Given the description of an element on the screen output the (x, y) to click on. 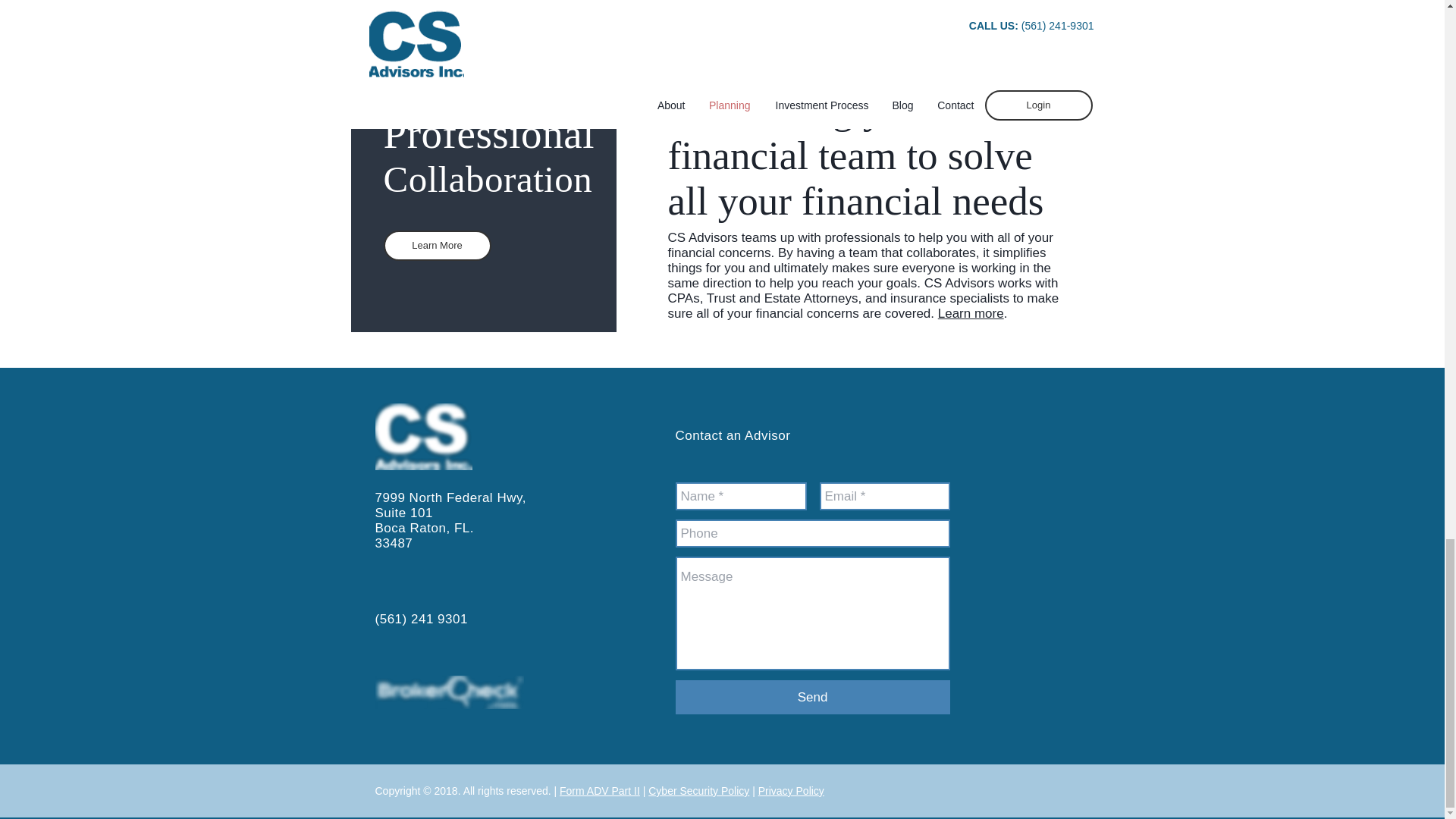
Learn More (915, 19)
Learn More (399, 20)
Form ADV Part II (599, 790)
Learn more (970, 313)
Learn More (438, 245)
Send (812, 697)
Cyber Security Policy (698, 790)
Privacy Policy (791, 790)
